Given the description of an element on the screen output the (x, y) to click on. 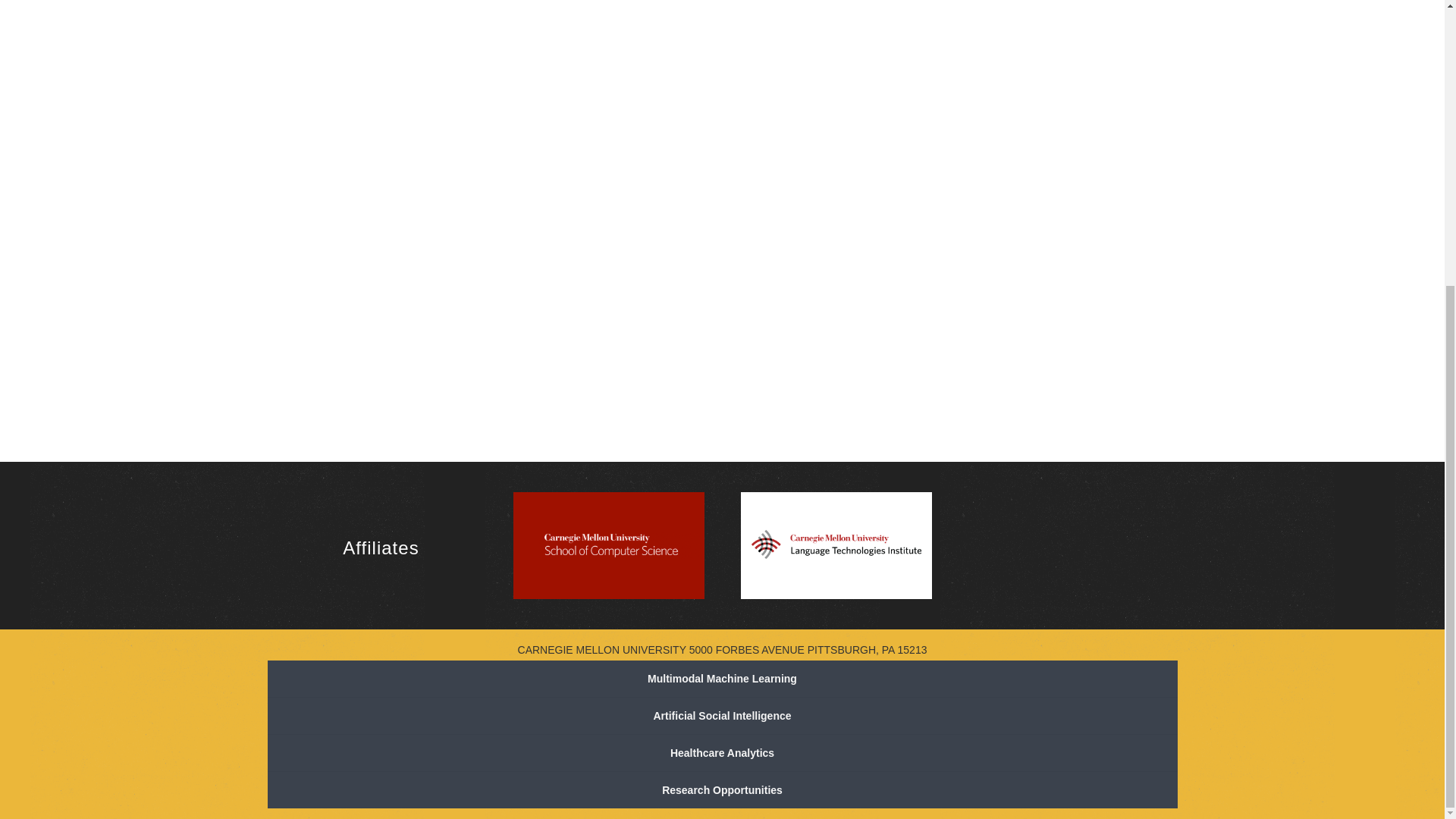
Healthcare Analytics (721, 753)
Multimodal Machine Learning (721, 678)
Artificial Social Intelligence (721, 715)
